Given the description of an element on the screen output the (x, y) to click on. 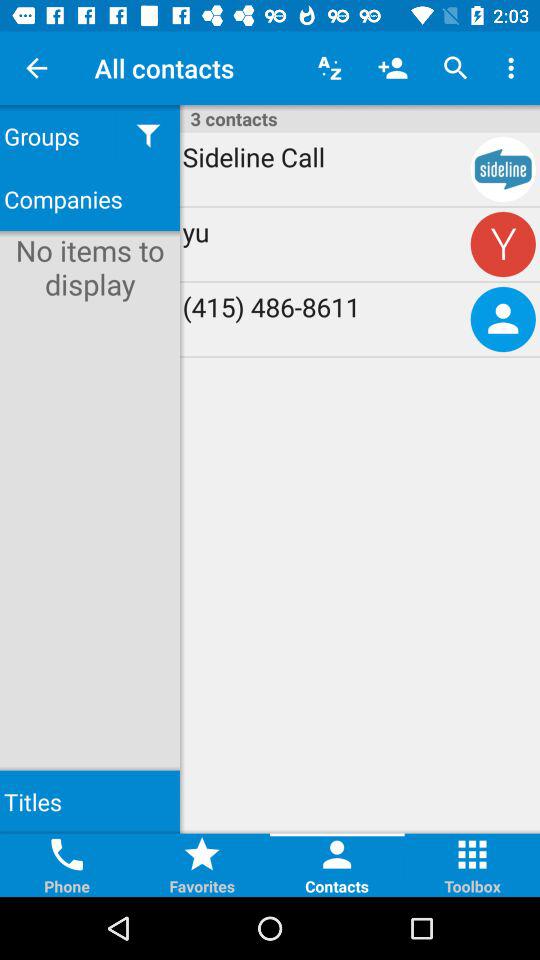
press icon to the left of all contacts item (36, 68)
